Given the description of an element on the screen output the (x, y) to click on. 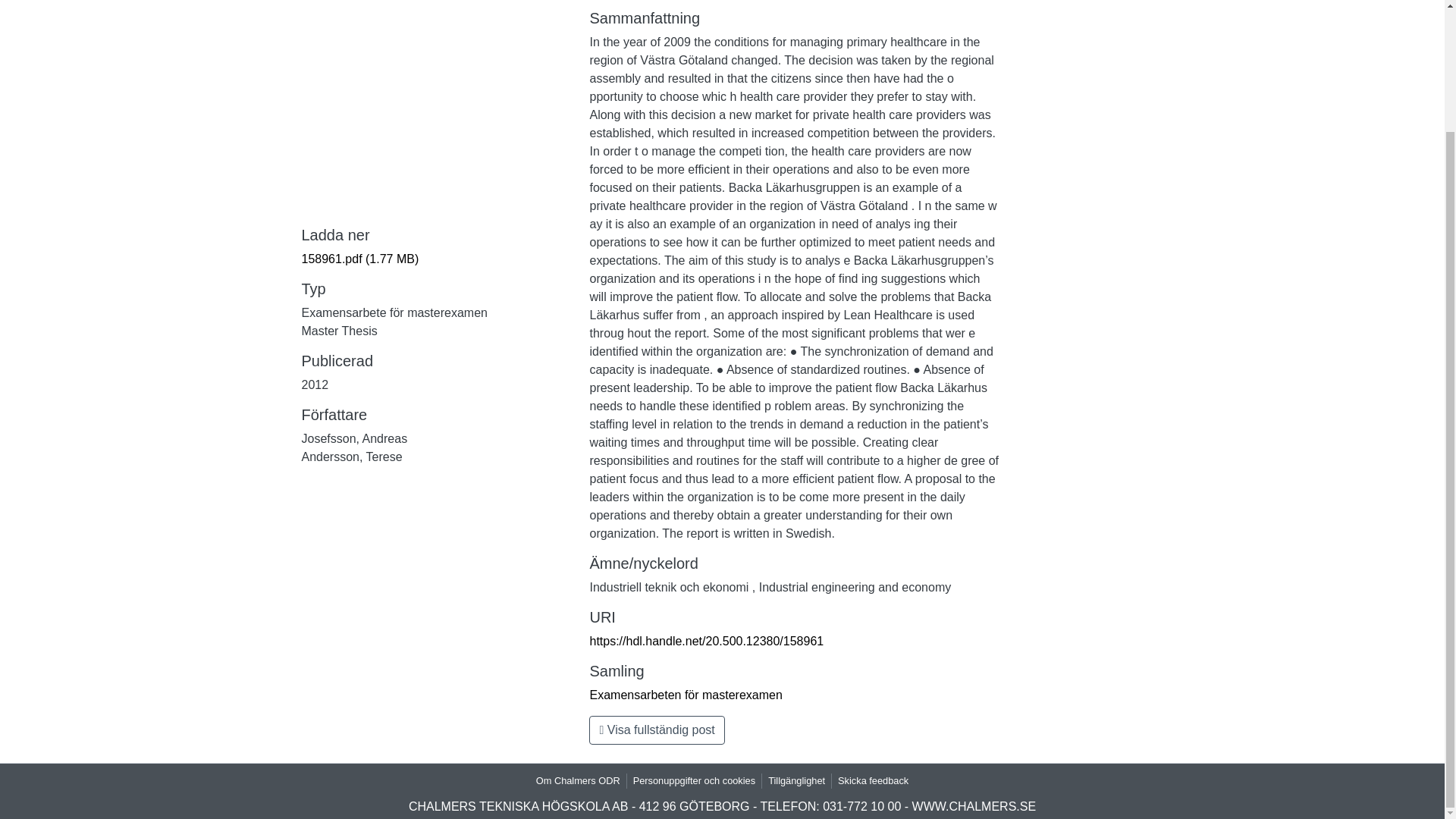
WWW.CHALMERS.SE (974, 806)
Om Chalmers ODR (577, 780)
Personuppgifter och cookies (694, 780)
Skicka feedback (872, 780)
